Given the description of an element on the screen output the (x, y) to click on. 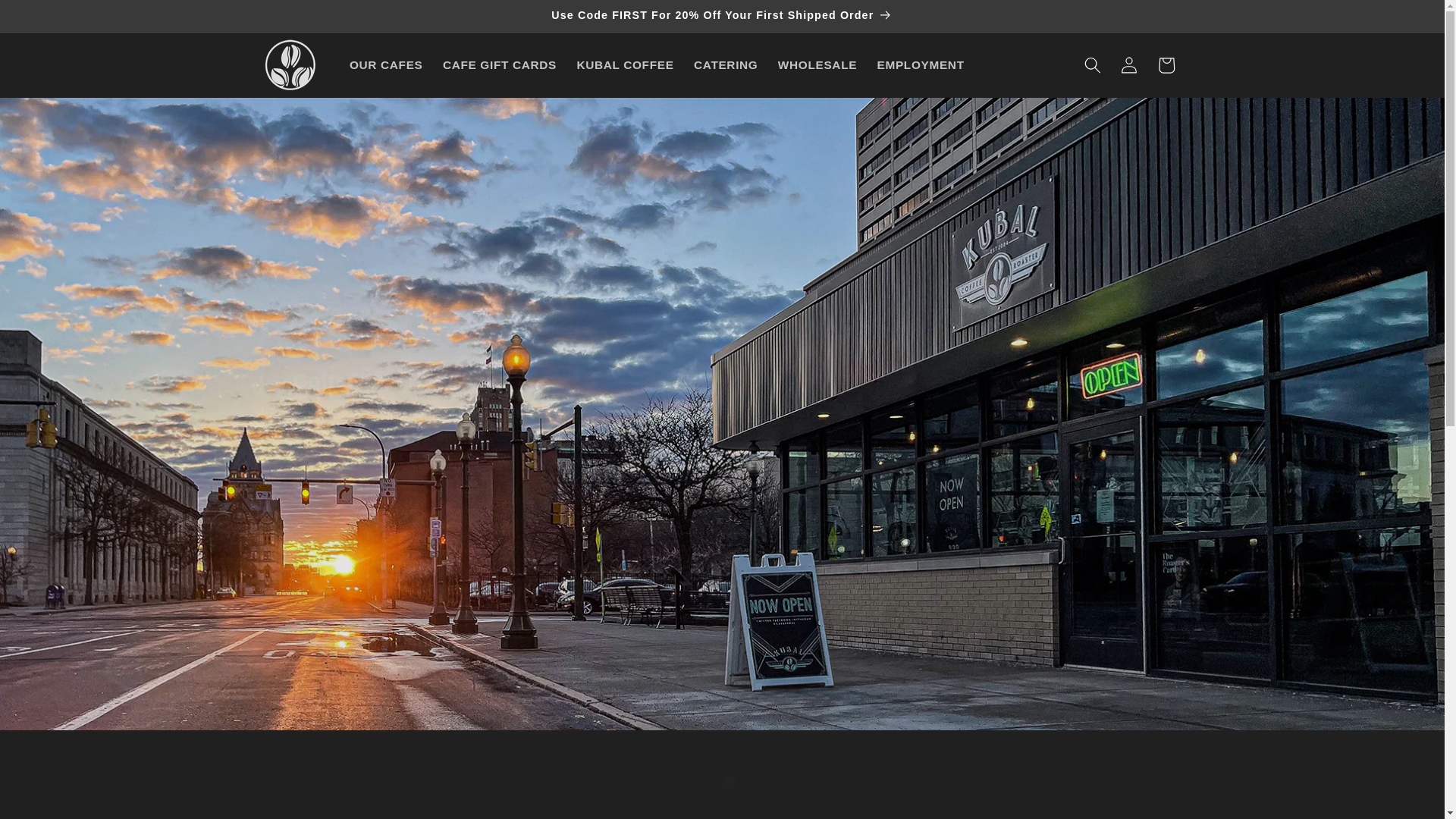
Skip to content (50, 19)
EMPLOYMENT (920, 64)
CAFE GIFT CARDS (499, 64)
KUBAL COFFEE (625, 64)
CATERING (726, 64)
Cart (1166, 64)
OUR CAFES (385, 64)
Log in (1128, 64)
WHOLESALE (817, 64)
